Given the description of an element on the screen output the (x, y) to click on. 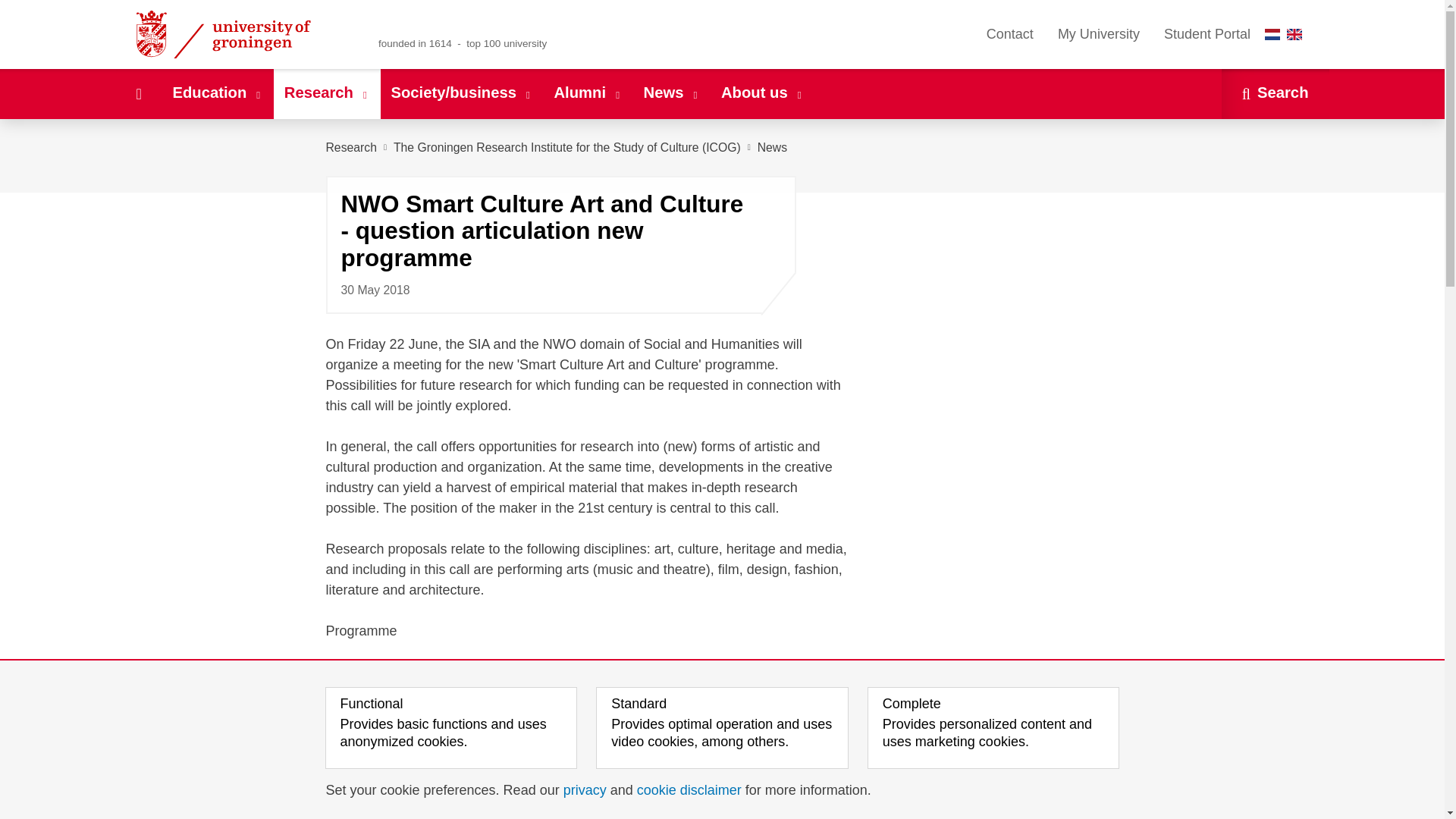
Student Portal (1206, 34)
My University (1098, 34)
Nederlands (1272, 33)
Research (326, 93)
Contact (1009, 34)
English (1293, 33)
Language select (1286, 34)
Home (138, 93)
Education (217, 93)
University of Groningen (241, 34)
